Given the description of an element on the screen output the (x, y) to click on. 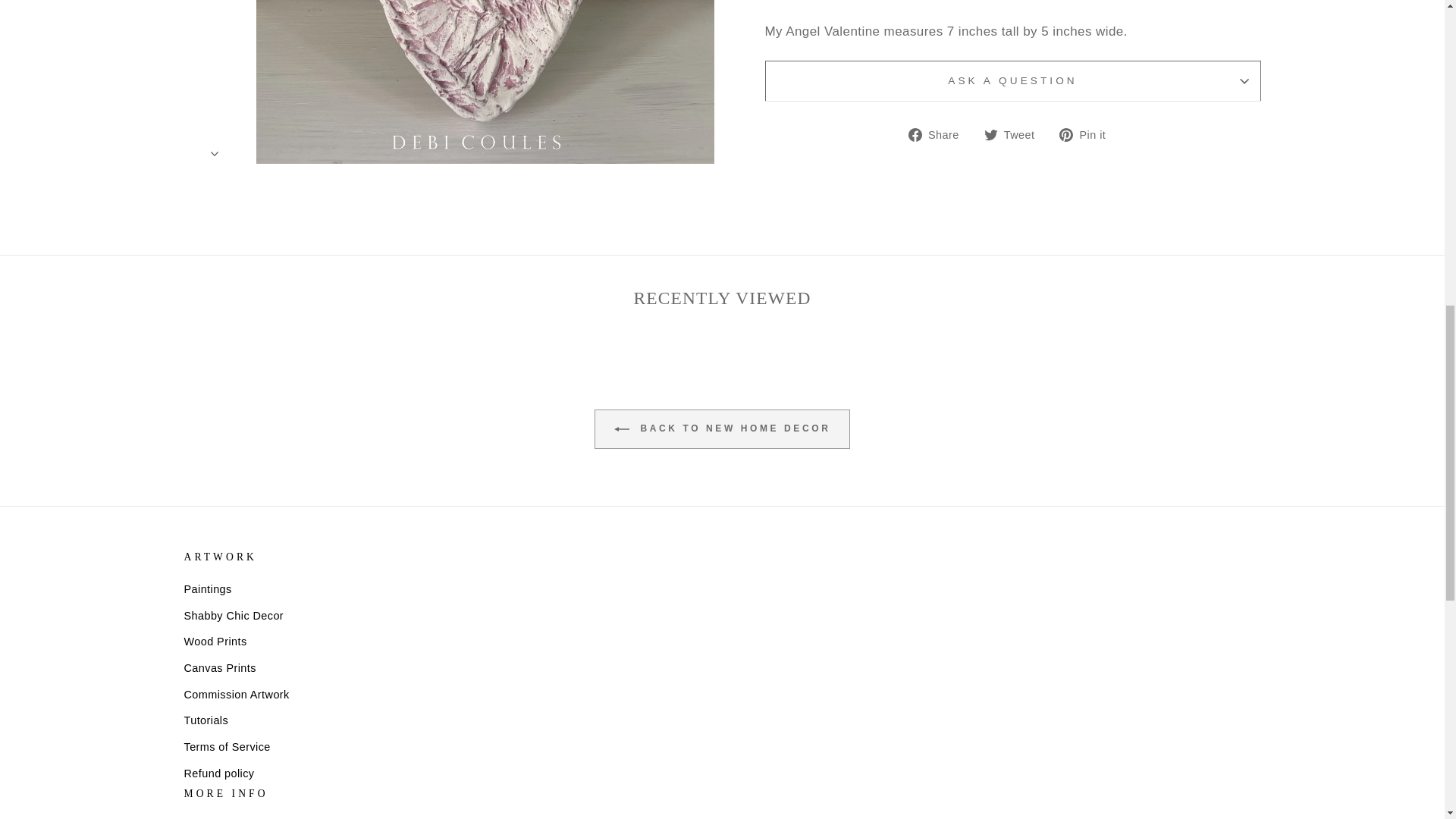
icon-chevron (214, 10)
Tweet on Twitter (1015, 134)
ICON-LEFT-ARROW (621, 428)
Pin on Pinterest (1087, 134)
twitter (990, 134)
Share on Facebook (939, 134)
